Given the description of an element on the screen output the (x, y) to click on. 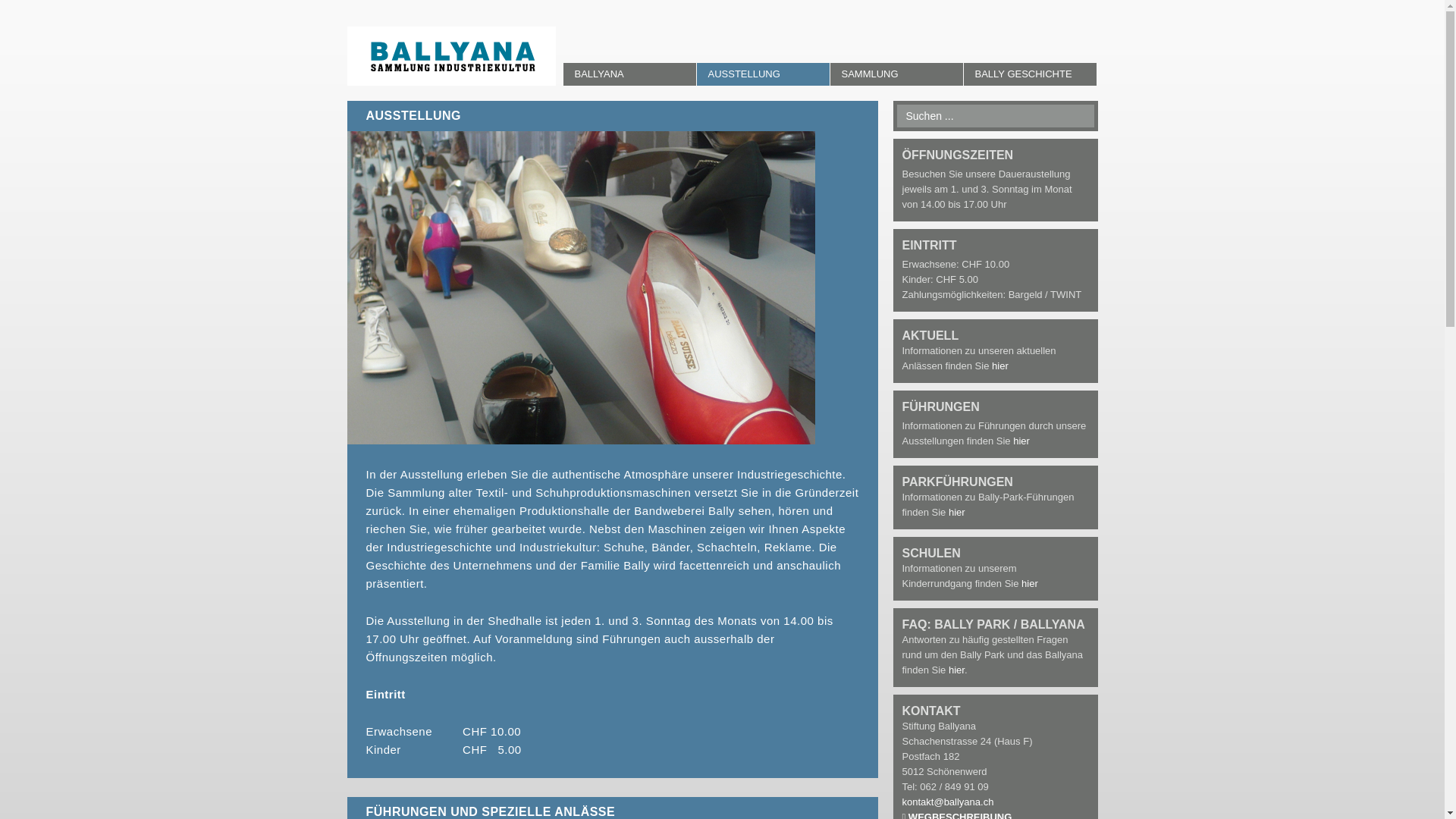
AUSSTELLUNG Element type: text (762, 73)
BALLY GESCHICHTE Element type: text (1029, 73)
hier Element type: text (1029, 583)
SAMMLUNG Element type: text (895, 73)
BALLYANA Element type: text (628, 73)
hier Element type: text (956, 669)
hier Element type: text (1021, 440)
kontakt@ballyana.ch Element type: text (948, 801)
hier Element type: text (999, 365)
hier Element type: text (956, 511)
